Given the description of an element on the screen output the (x, y) to click on. 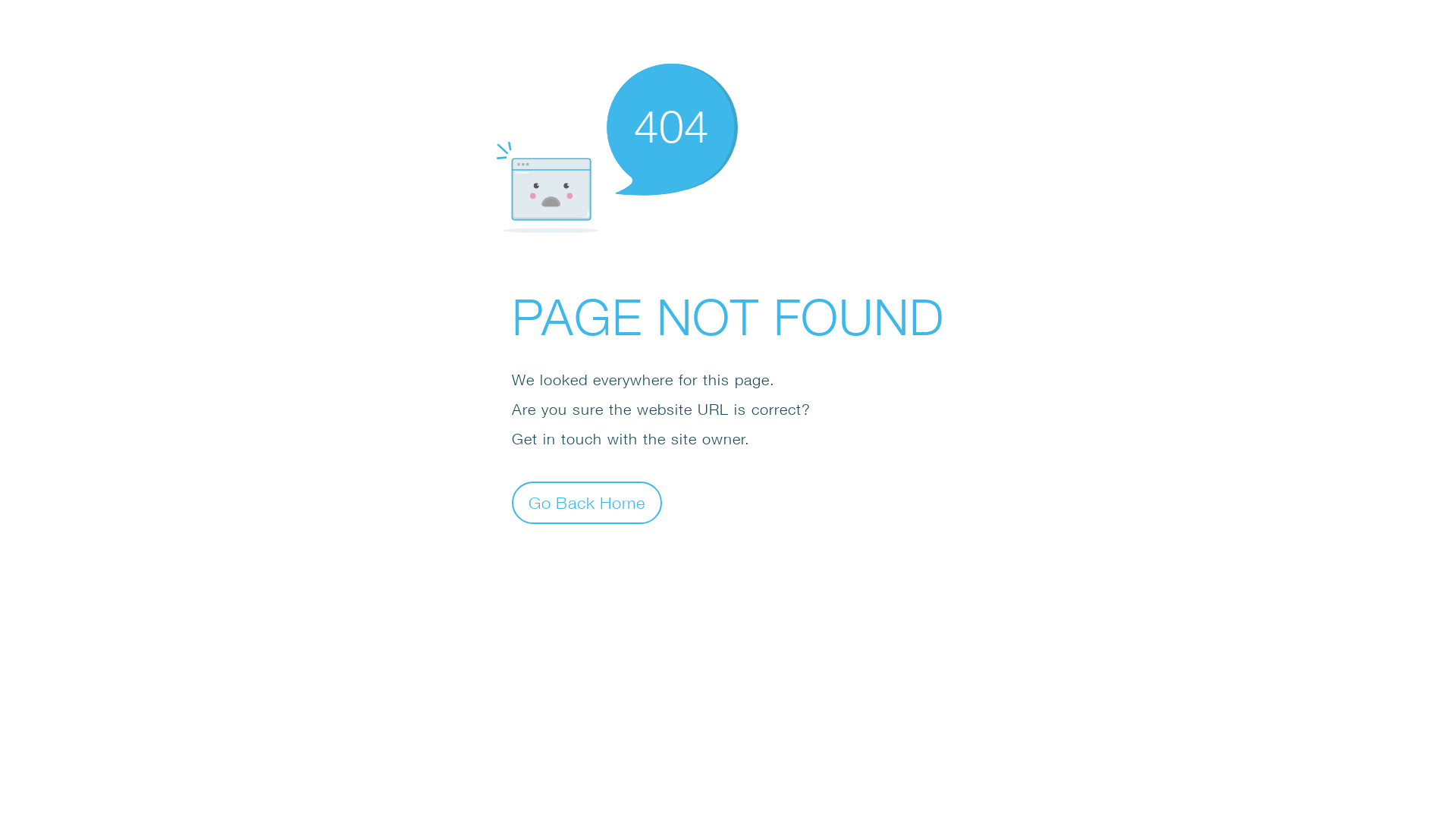
Go Back Home Element type: text (586, 502)
